Given the description of an element on the screen output the (x, y) to click on. 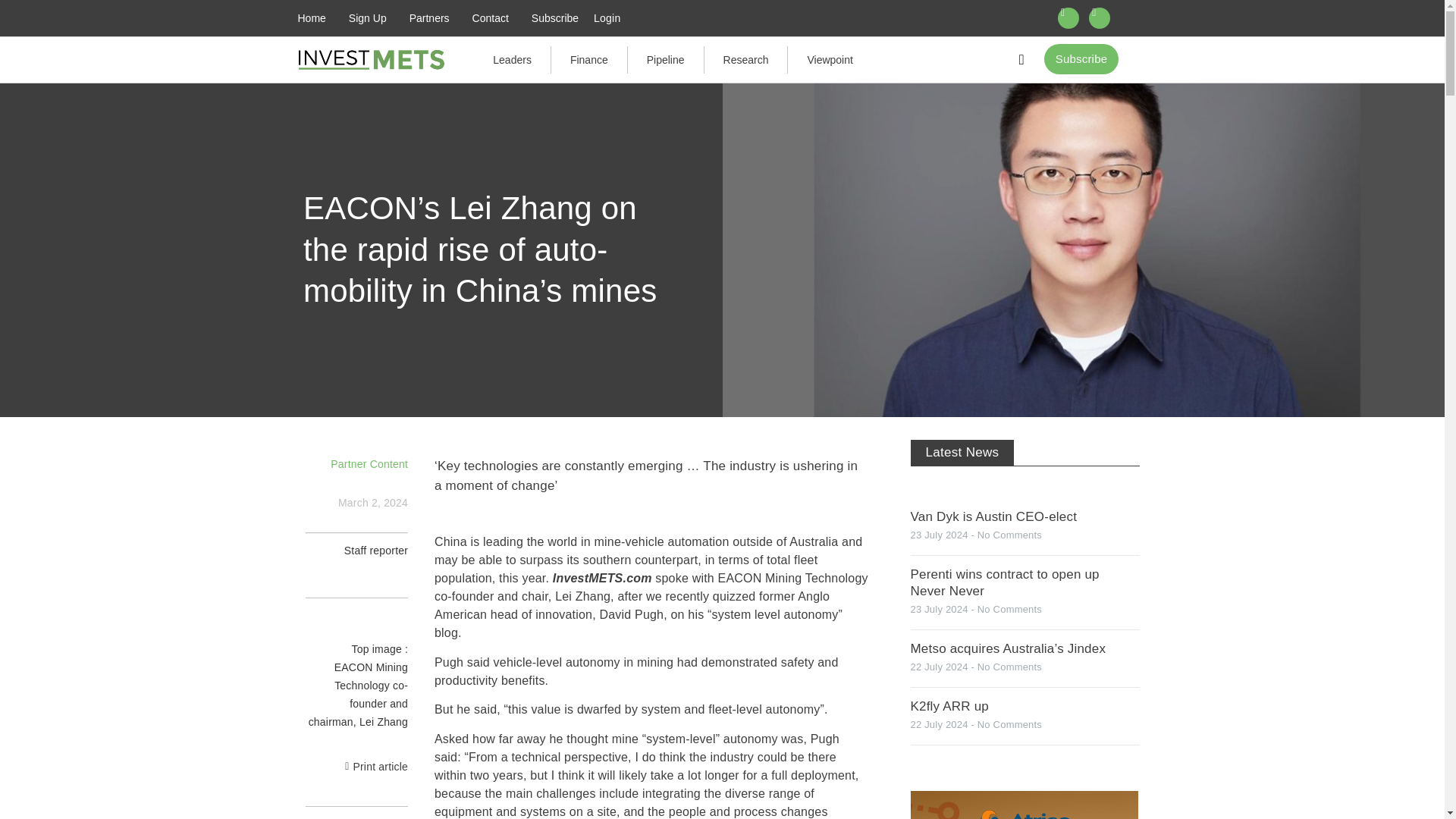
Login (607, 18)
March 2, 2024 (372, 506)
Subscribe (554, 17)
Print article (379, 766)
Contact (490, 17)
Leaders (512, 59)
Viewpoint (828, 59)
Research (745, 59)
Perenti wins contract to open up Never Never (1004, 582)
K2fly ARR up (949, 706)
Partner Content (368, 463)
Finance (589, 59)
Subscribe (1081, 59)
Partners (429, 17)
Home (311, 17)
